Given the description of an element on the screen output the (x, y) to click on. 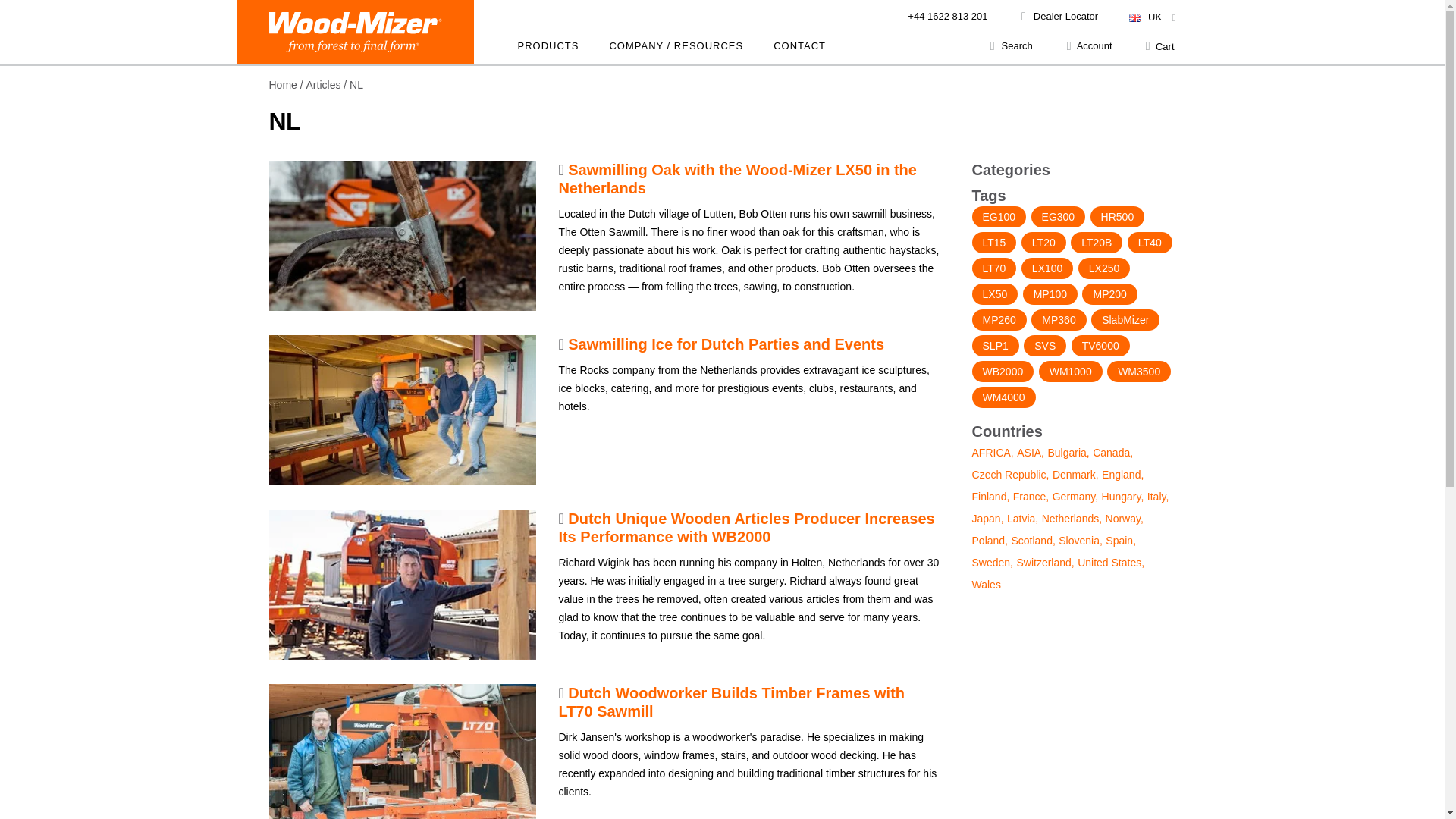
Articles (322, 84)
Go to Home Page (282, 84)
